Given the description of an element on the screen output the (x, y) to click on. 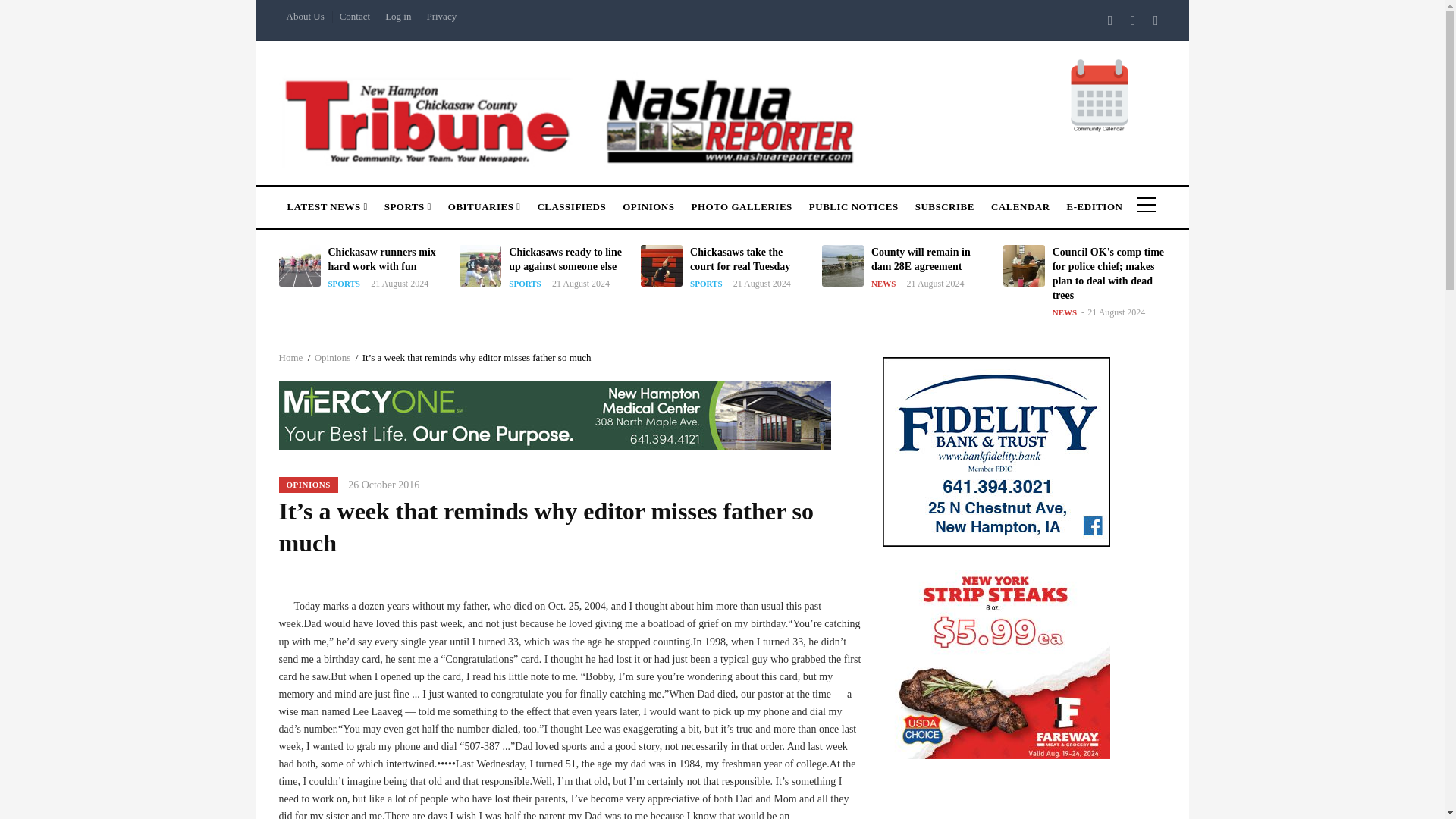
Log in (398, 16)
LATEST NEWS (327, 202)
SPORTS (407, 202)
Privacy (441, 16)
Home (571, 118)
About Us (305, 16)
Contact (354, 16)
